Given the description of an element on the screen output the (x, y) to click on. 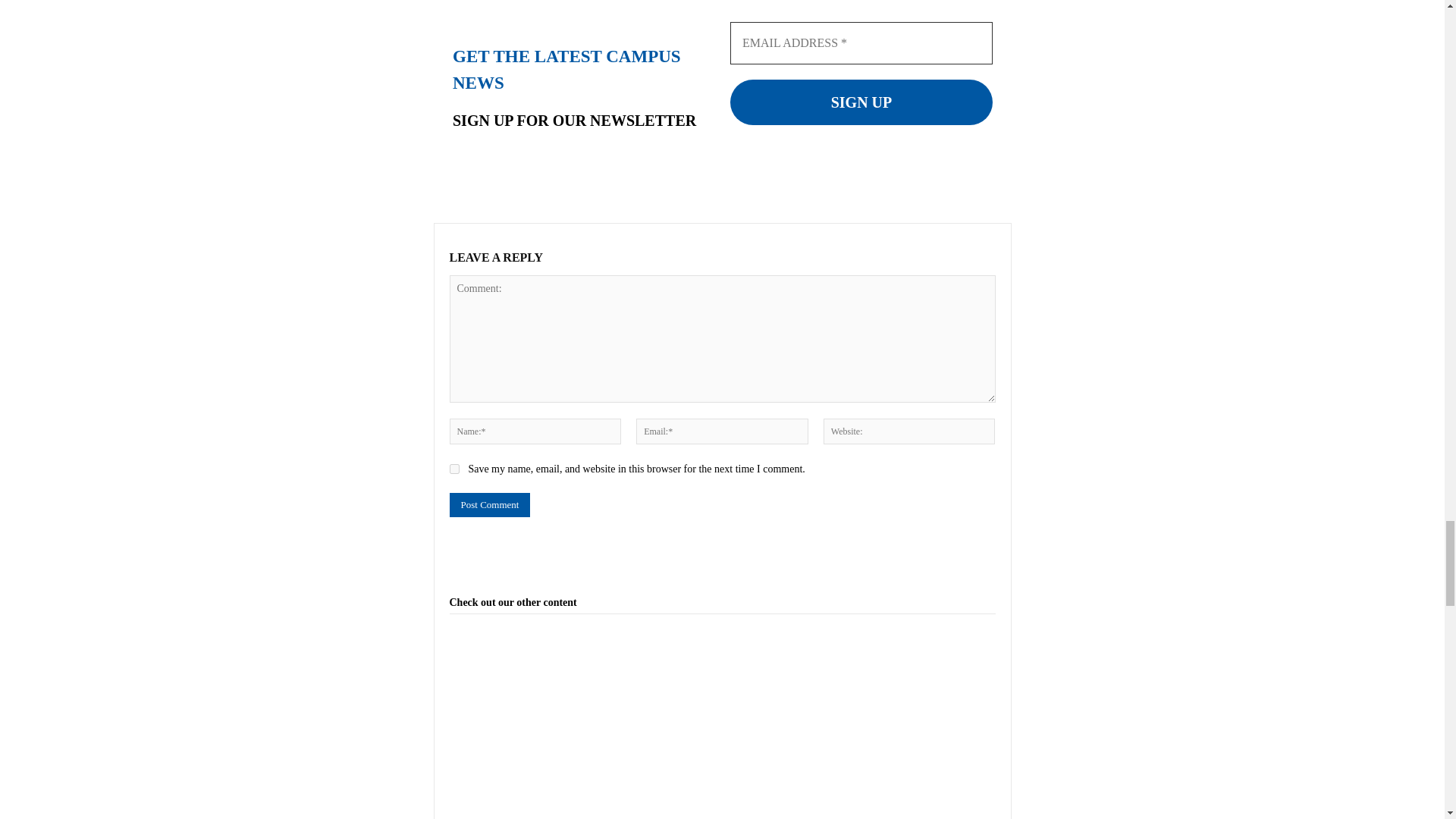
Post Comment (488, 504)
SIGN UP (860, 102)
EMAIL ADDRESS (860, 43)
yes (453, 469)
